Given the description of an element on the screen output the (x, y) to click on. 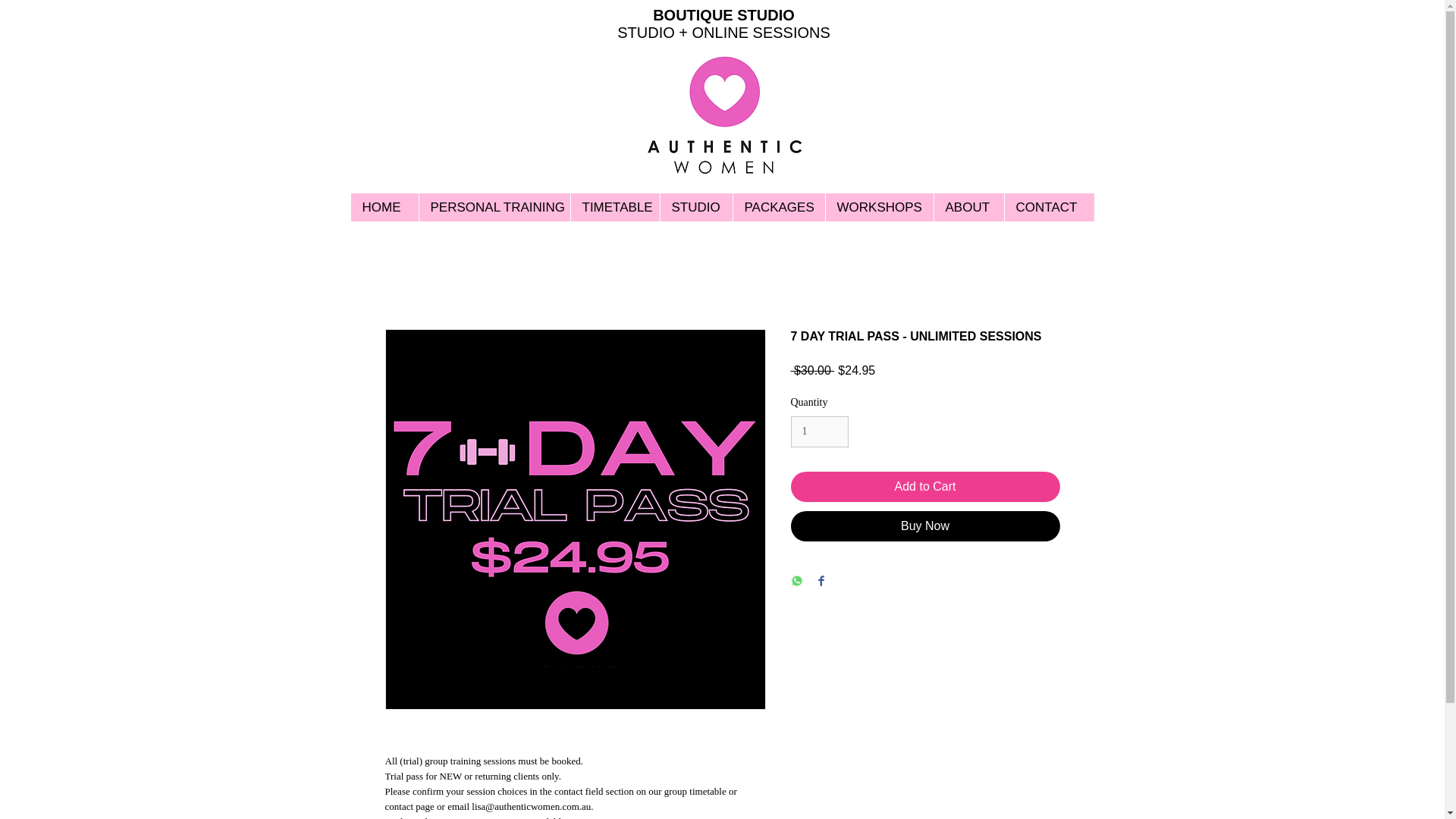
CONTACT (1049, 207)
Authentic Women-15.png (723, 118)
Add to Cart (924, 486)
PERSONAL TRAINING (494, 207)
HOME (383, 207)
Buy Now (924, 526)
1 (818, 431)
STUDIO (695, 207)
TIMETABLE (614, 207)
WORKSHOPS (879, 207)
ABOUT (968, 207)
PACKAGES (778, 207)
